Given the description of an element on the screen output the (x, y) to click on. 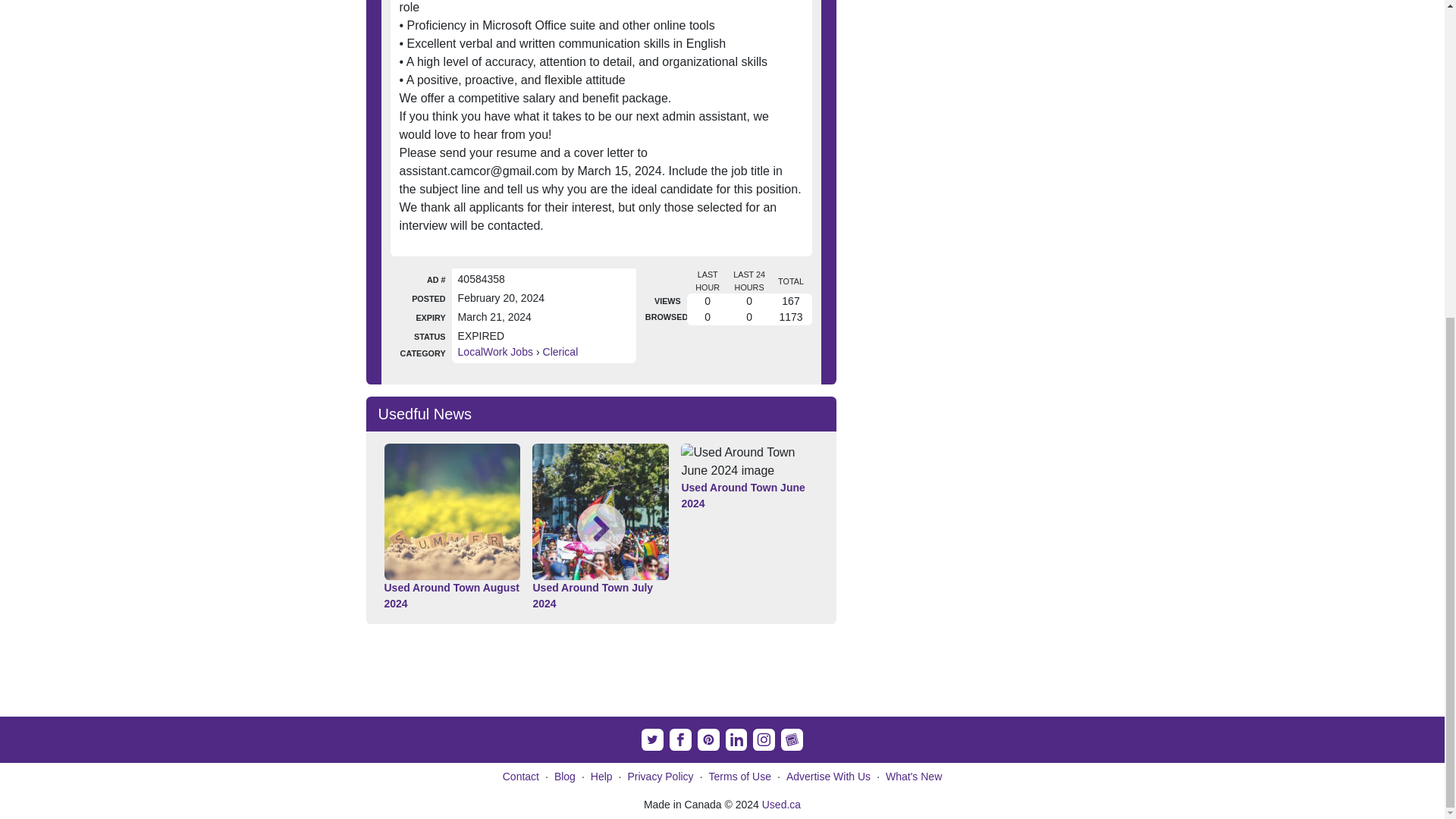
Instagram (763, 739)
Terms of Use (740, 776)
Pinterest (708, 739)
Facebook (680, 739)
Help (601, 776)
Advertise With Us (828, 776)
Used Around Town July 2024 (600, 595)
Used Around Town August 2024 (451, 595)
Subscribe to newsletter (791, 739)
Twitter (652, 739)
